Given the description of an element on the screen output the (x, y) to click on. 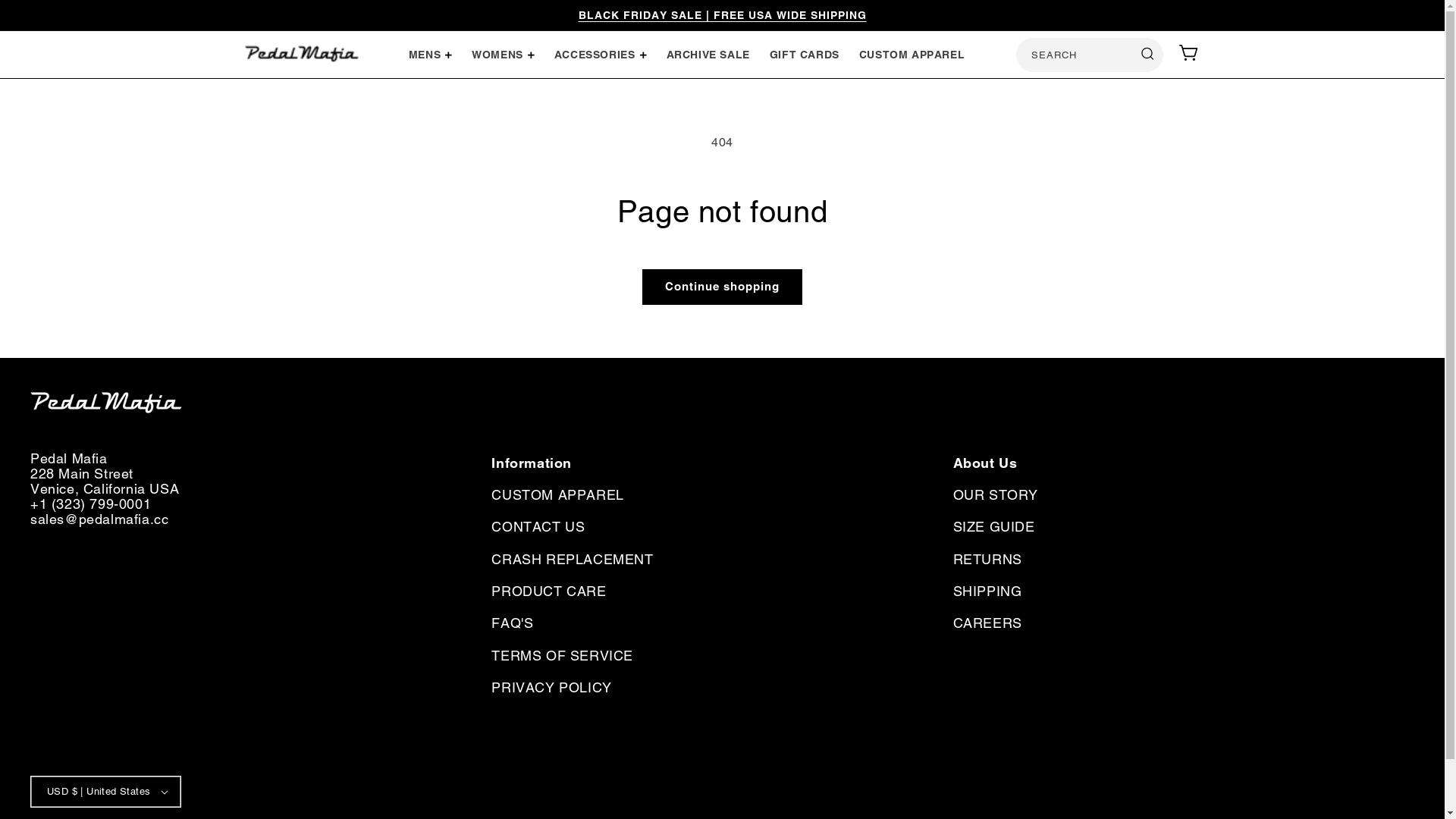
FAQ'S Element type: text (512, 623)
Continue shopping Element type: text (722, 286)
PRODUCT CARE Element type: text (548, 591)
Cart Element type: text (1189, 51)
OUR STORY Element type: text (995, 497)
TERMS OF SERVICE Element type: text (562, 655)
CAREERS Element type: text (987, 623)
SHIPPING Element type: text (987, 591)
CUSTOM APPAREL Element type: text (557, 497)
GIFT CARDS Element type: text (804, 54)
PRIVACY POLICY Element type: text (551, 687)
CRASH REPLACEMENT Element type: text (571, 559)
RETURNS Element type: text (987, 559)
ARCHIVE SALE Element type: text (707, 54)
SIZE GUIDE Element type: text (994, 526)
CONTACT US Element type: text (537, 526)
CUSTOM APPAREL Element type: text (911, 54)
USD $ | United States Element type: text (105, 791)
BLACK FRIDAY SALE | FREE USA WIDE SHIPPING Element type: text (722, 15)
